Given the description of an element on the screen output the (x, y) to click on. 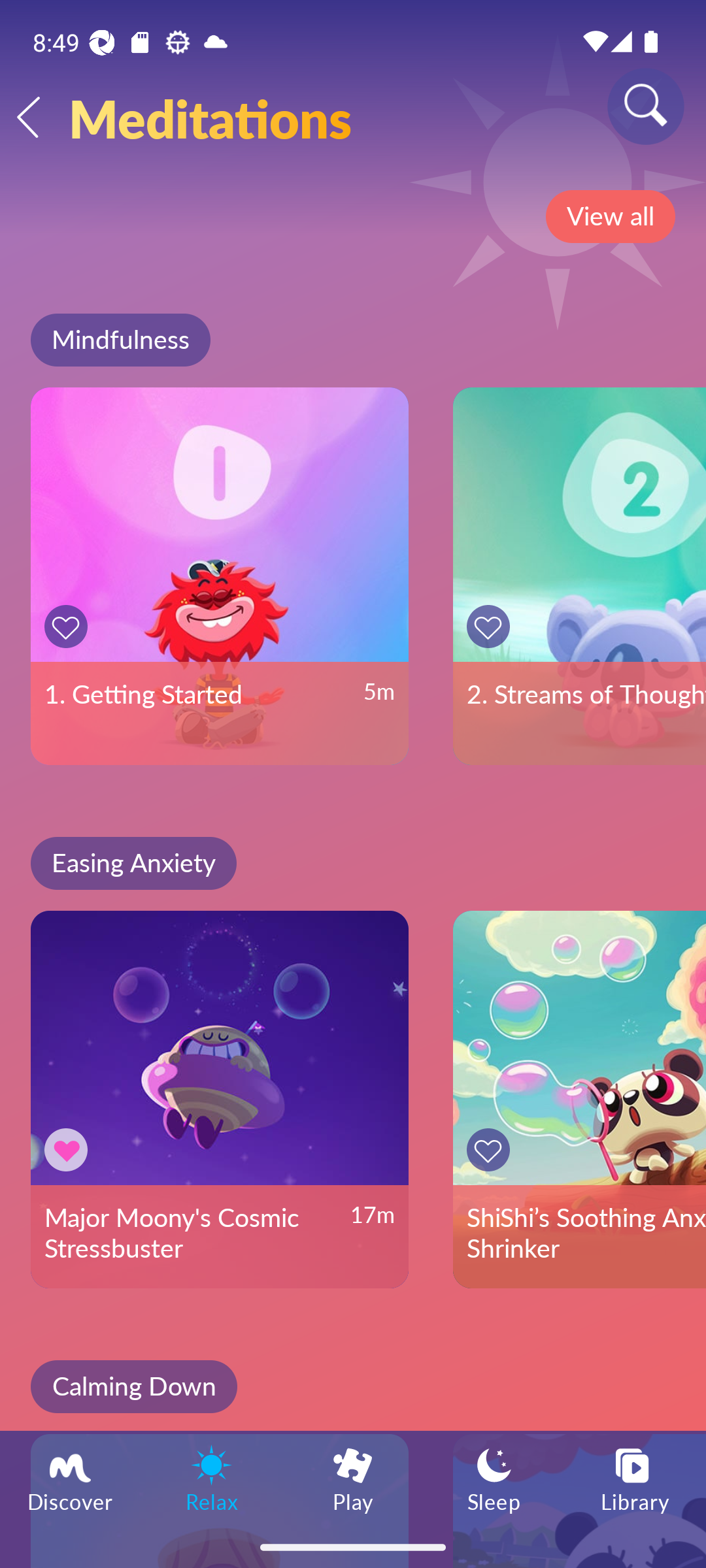
View all (609, 216)
Featured Content Button 1. Getting Started 5m (219, 576)
Featured Content Button 2. Streams of Thought (579, 576)
Button (69, 625)
Button (491, 625)
Button (69, 1149)
Button (491, 1149)
Discover (70, 1478)
Play (352, 1478)
Sleep (493, 1478)
Library (635, 1478)
